Given the description of an element on the screen output the (x, y) to click on. 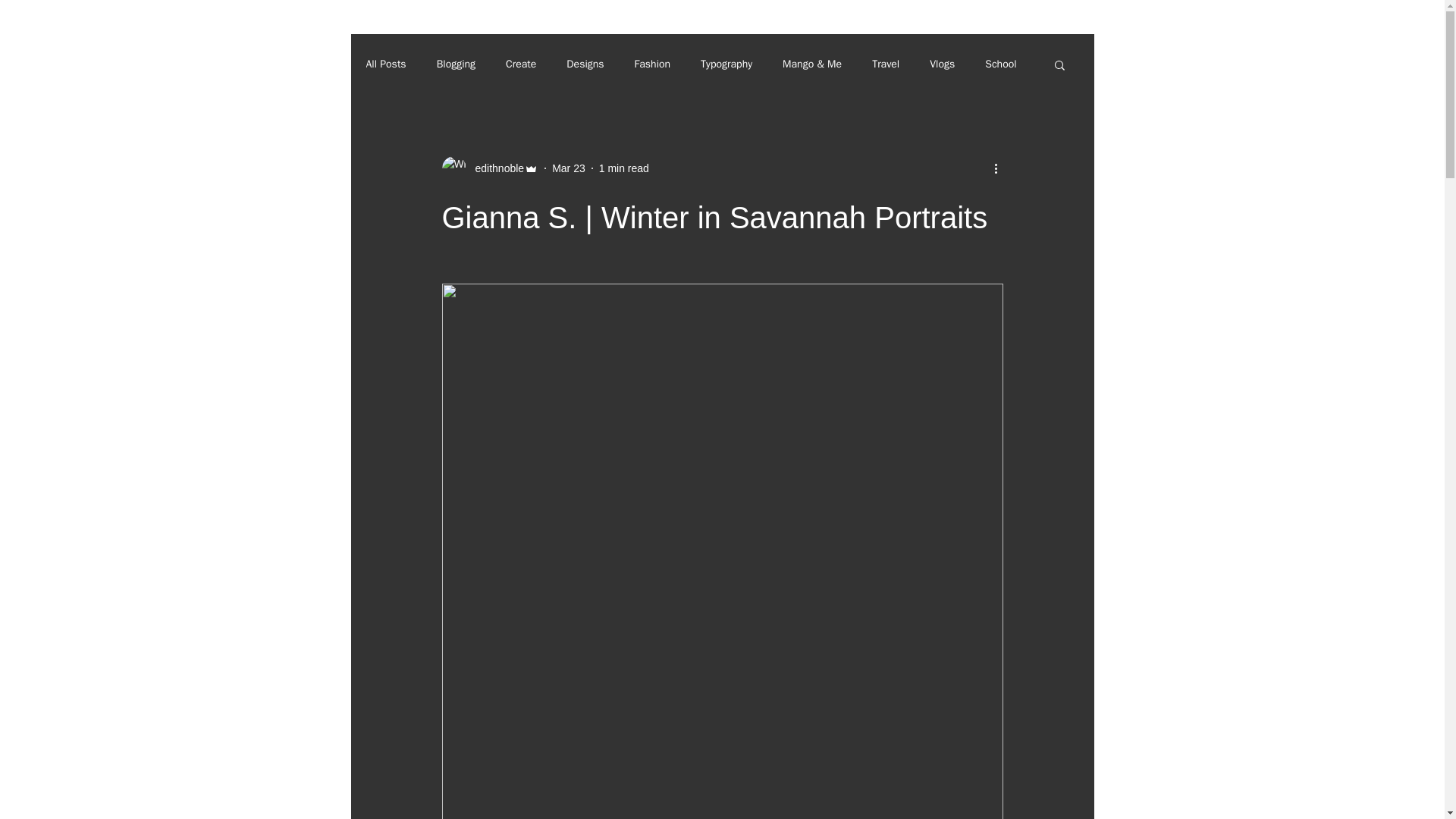
Designs (585, 64)
edithnoble (489, 168)
Travel (885, 64)
edithnoble (494, 168)
Create (520, 64)
All Posts (385, 64)
Fashion (652, 64)
School (1000, 64)
1 min read (623, 168)
Mar 23 (568, 168)
